Given the description of an element on the screen output the (x, y) to click on. 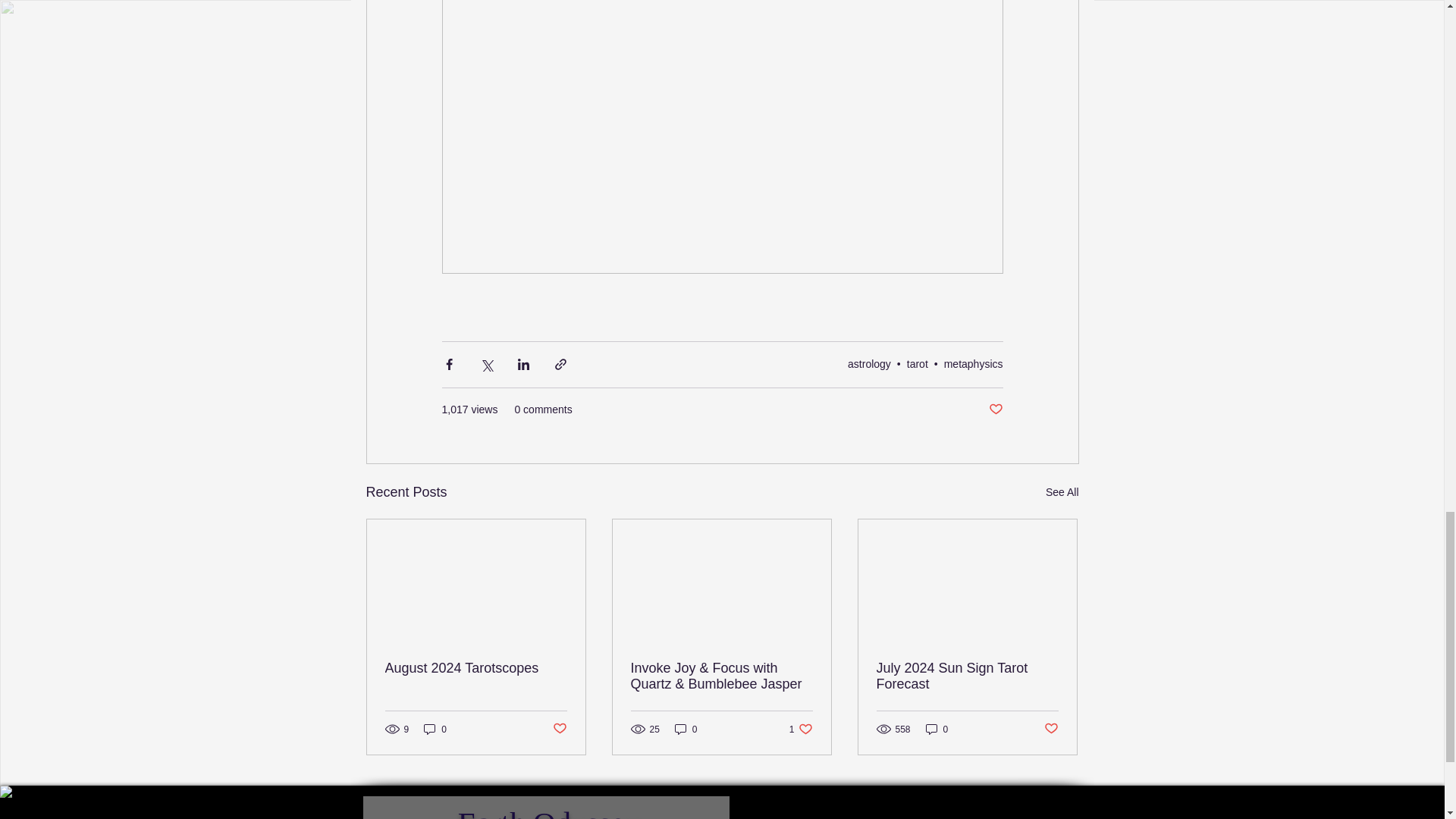
tarot (917, 363)
0 (435, 728)
metaphysics (973, 363)
astrology (869, 363)
Post not marked as liked (995, 409)
August 2024 Tarotscopes (476, 668)
See All (1061, 492)
